Given the description of an element on the screen output the (x, y) to click on. 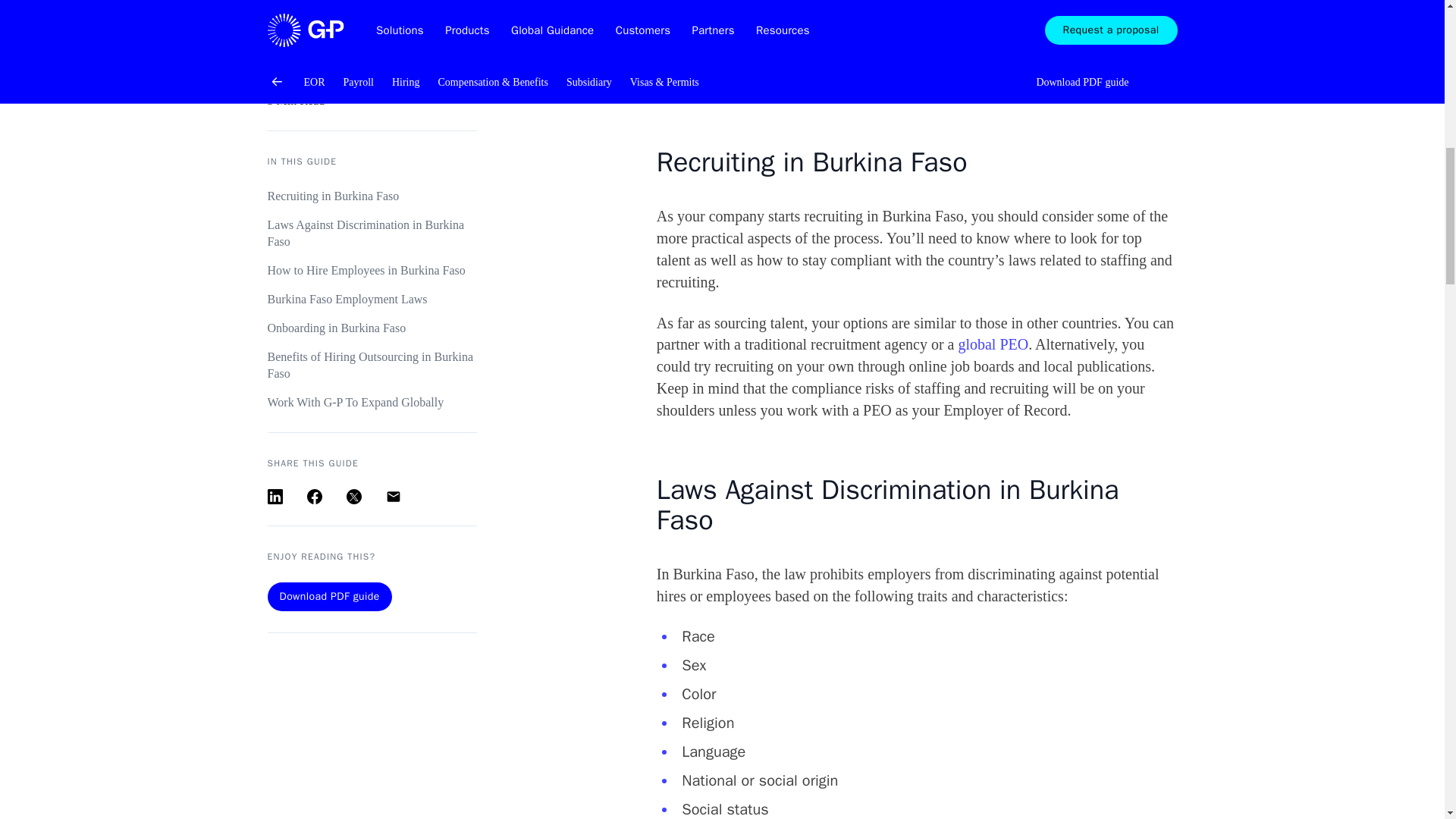
Work With G-P To Expand Globally (371, 270)
Onboarding in Burkina Faso (371, 196)
Burkina Faso Employment Laws (371, 167)
global PEO (992, 343)
Recruiting in Burkina Faso (371, 64)
Laws Against Discrimination in Burkina Faso (371, 101)
Download PDF guide (328, 464)
How to Hire Employees in Burkina Faso (371, 138)
Benefits of Hiring Outsourcing in Burkina Faso (371, 233)
